Given the description of an element on the screen output the (x, y) to click on. 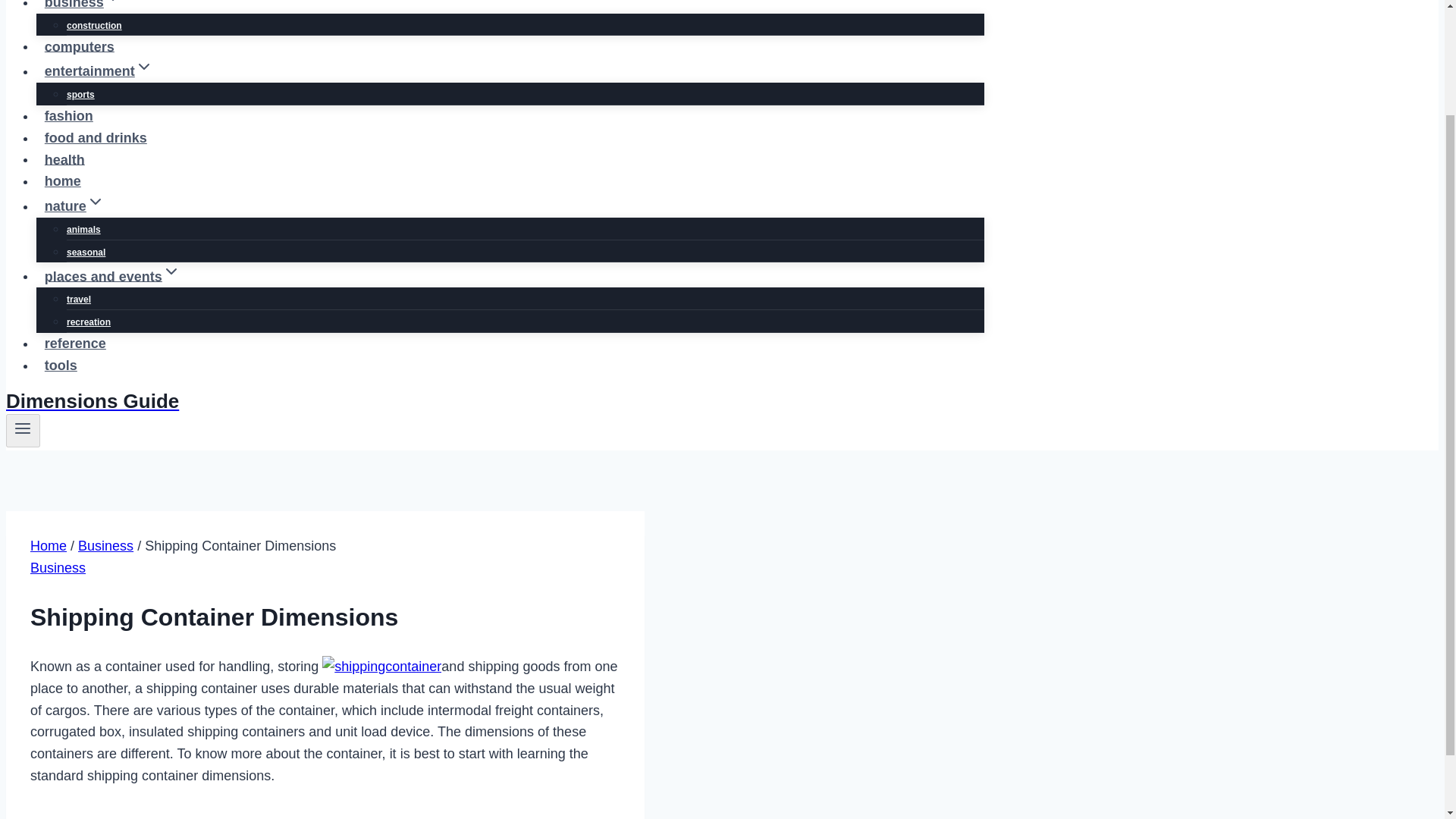
businessexpand (83, 9)
entertainmentexpand (98, 70)
expand (143, 66)
animals (83, 229)
expand (170, 271)
shippingcontainer (381, 667)
expand (112, 3)
computers (79, 47)
recreation (88, 321)
natureexpand (74, 205)
home (62, 181)
Dimensions Guide (494, 401)
Business (57, 567)
expand (94, 201)
fashion (68, 115)
